Given the description of an element on the screen output the (x, y) to click on. 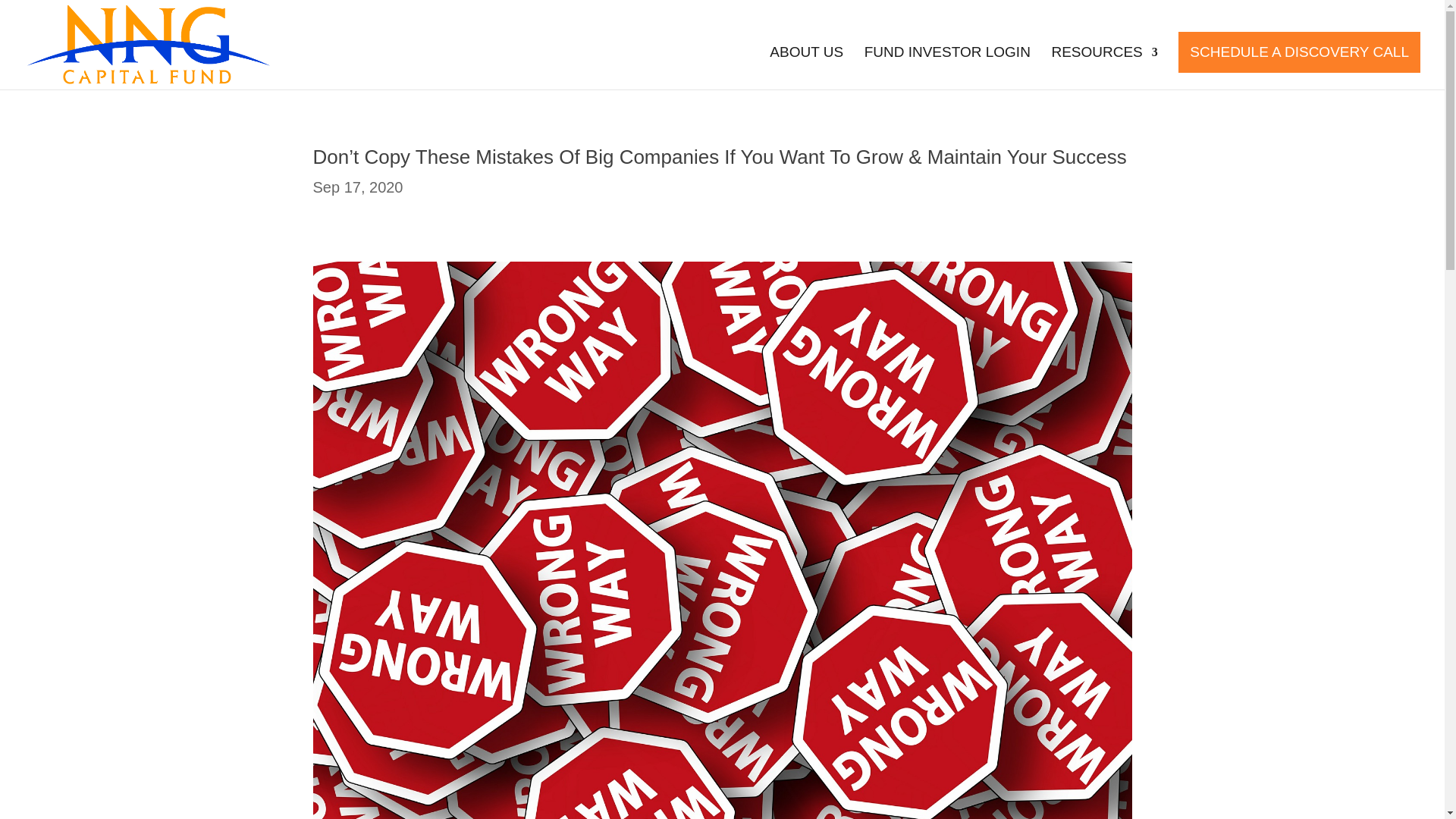
FUND INVESTOR LOGIN (947, 67)
SCHEDULE A DISCOVERY CALL (1299, 51)
RESOURCES (1104, 67)
ABOUT US (806, 67)
